Given the description of an element on the screen output the (x, y) to click on. 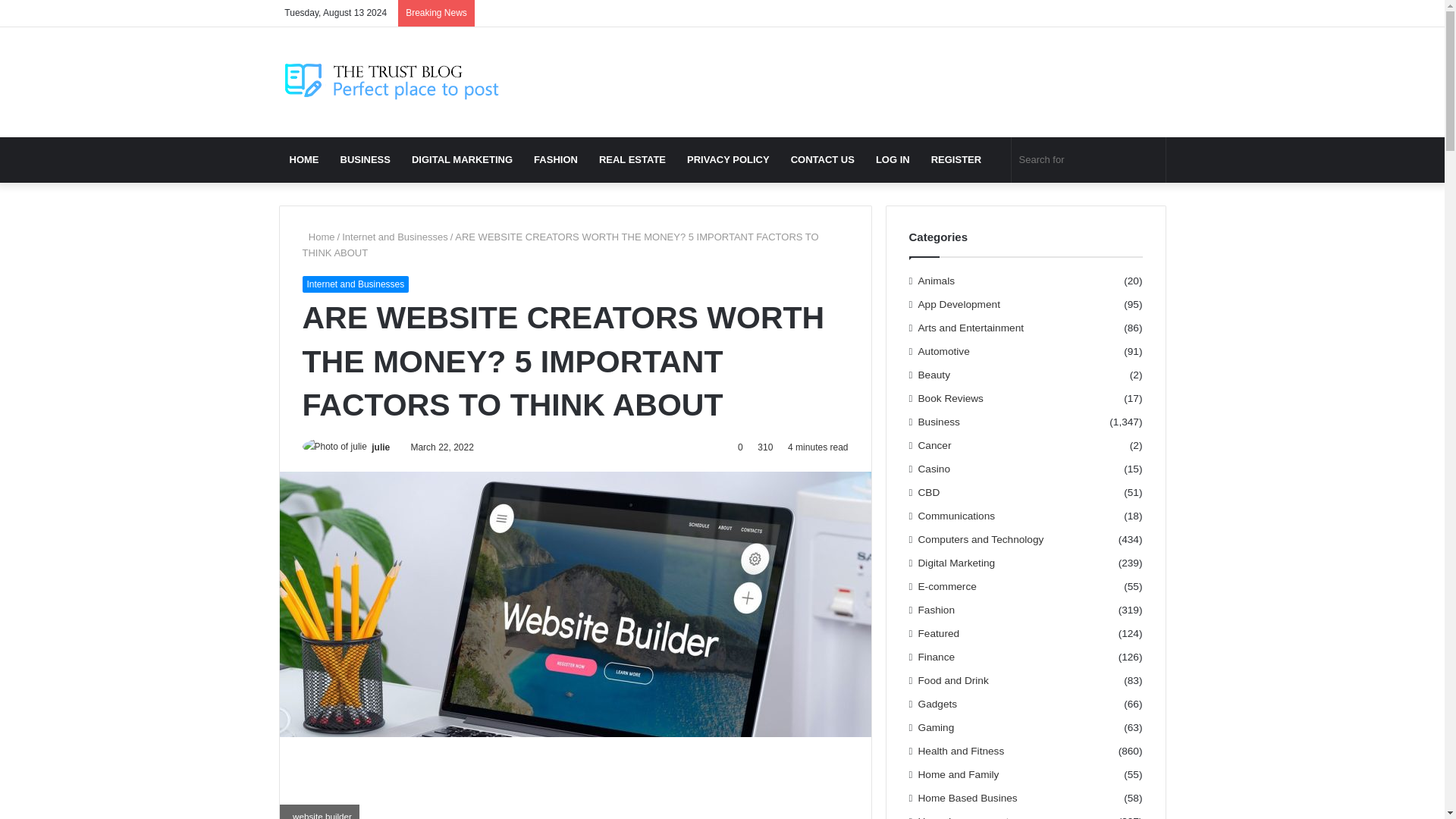
HOME (304, 159)
Internet and Businesses (394, 236)
DIGITAL MARKETING (461, 159)
PRIVACY POLICY (728, 159)
The Trust Blog (392, 82)
julie (380, 447)
REGISTER (955, 159)
Internet and Businesses (355, 284)
BUSINESS (364, 159)
FASHION (555, 159)
